Given the description of an element on the screen output the (x, y) to click on. 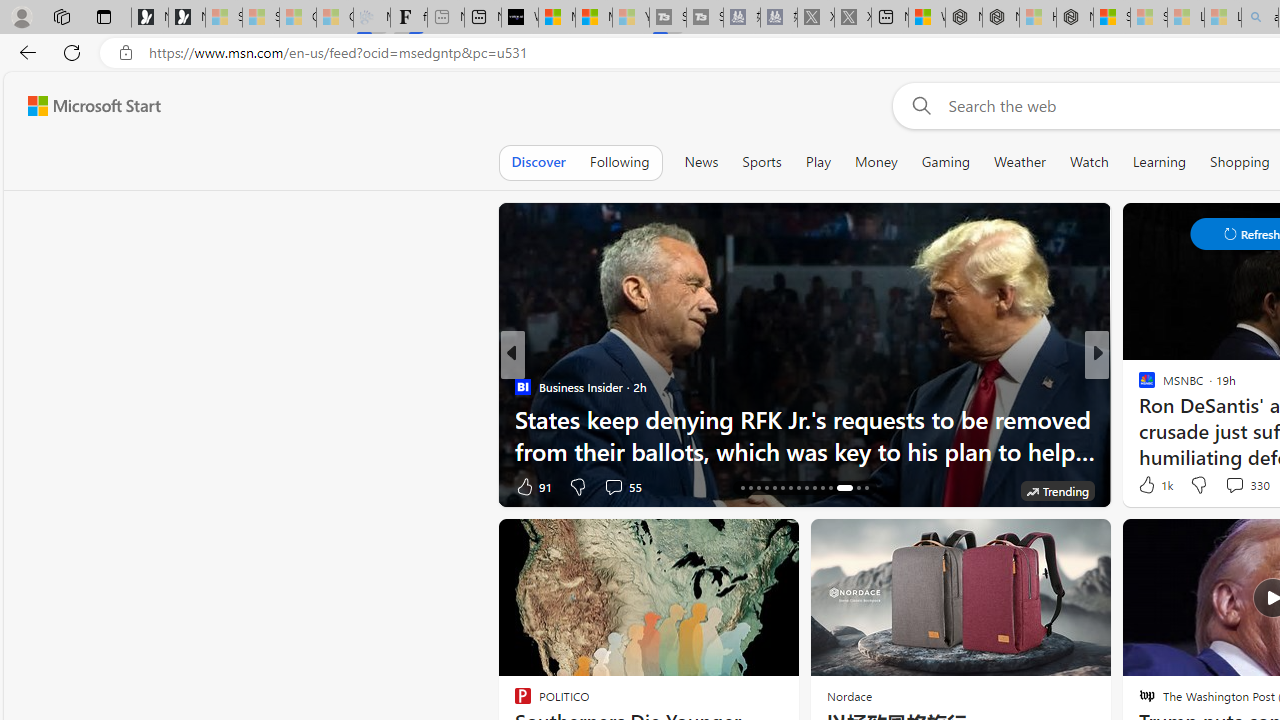
AutomationID: tab-28 (844, 487)
View comments 96 Comment (1234, 485)
View comments 213 Comment (11, 485)
AutomationID: tab-19 (765, 487)
Money (875, 161)
AutomationID: tab-22 (789, 487)
Comments turned off for this story (1222, 486)
View comments 55 Comment (613, 485)
AutomationID: tab-16 (742, 487)
Nordace - Nordace Siena Is Not An Ordinary Backpack (1075, 17)
View comments 39 Comment (11, 485)
